Given the description of an element on the screen output the (x, y) to click on. 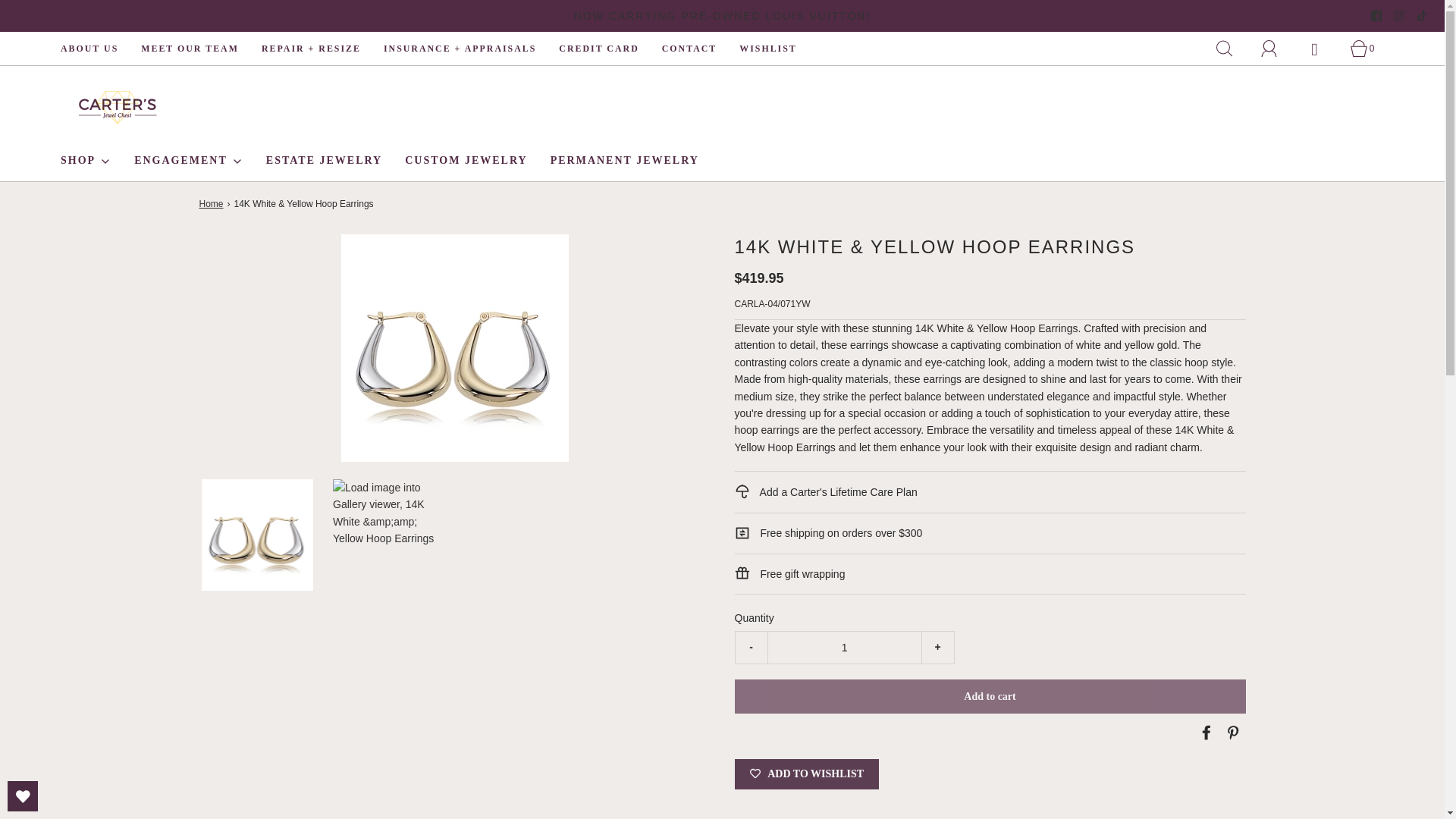
ABOUT US (89, 48)
Cart (1367, 48)
FACEBOOK ICON (1376, 15)
CONTACT (689, 48)
NOW CARRYING PRE-OWNED LOUIS VUITTON! (722, 15)
INSTAGRAM ICON (1399, 15)
INSTAGRAM ICON (1399, 15)
0 (1367, 48)
TIKTOK ICON (1421, 15)
SHOP (86, 160)
